Given the description of an element on the screen output the (x, y) to click on. 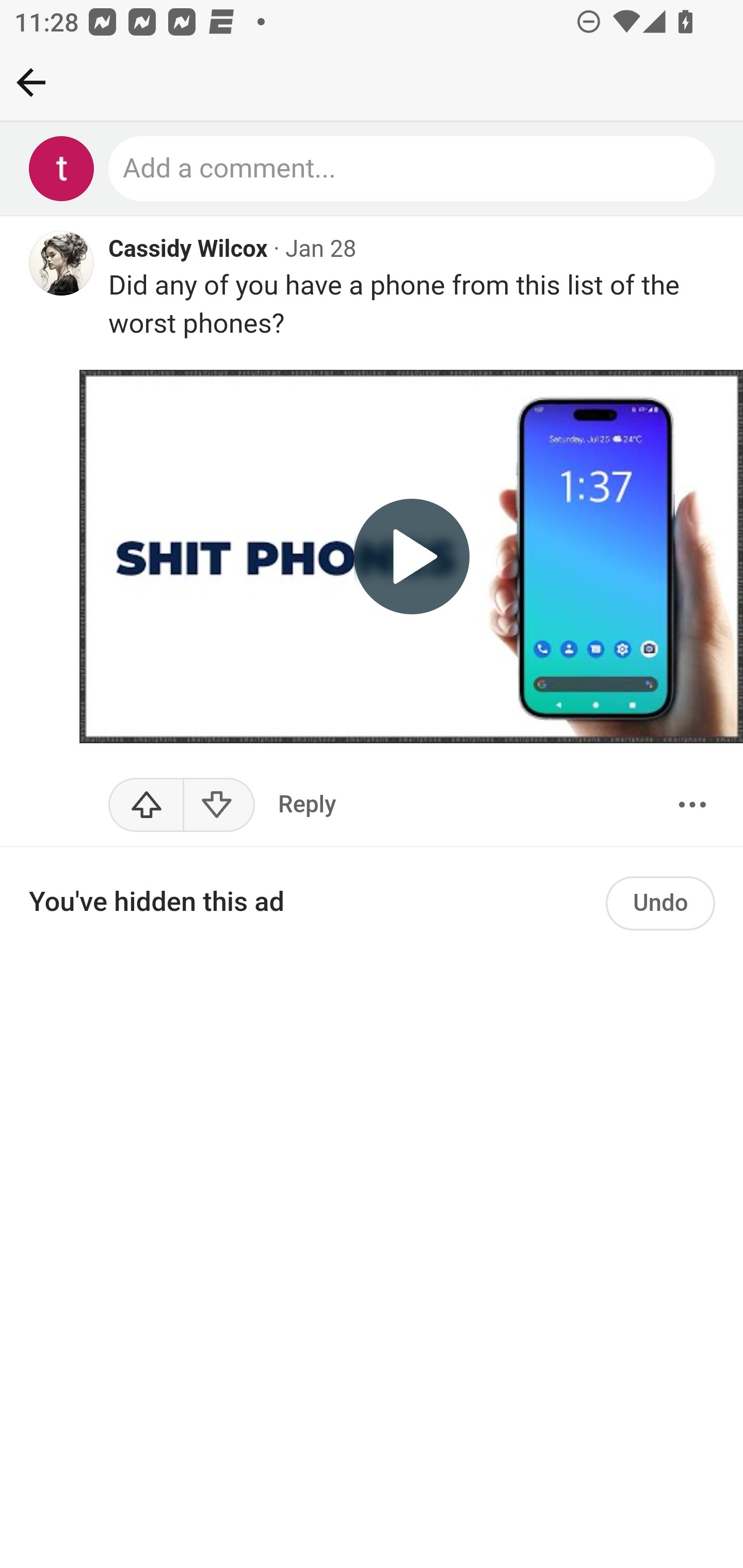
Back (30, 82)
Profile photo for Test Appium (61, 169)
Add a comment... (412, 169)
Profile photo for Cassidy Wilcox (61, 264)
Cassidy Wilcox (188, 250)
Upvote (146, 805)
Downvote (218, 805)
Reply (306, 805)
More (691, 805)
Undo (660, 903)
